Given the description of an element on the screen output the (x, y) to click on. 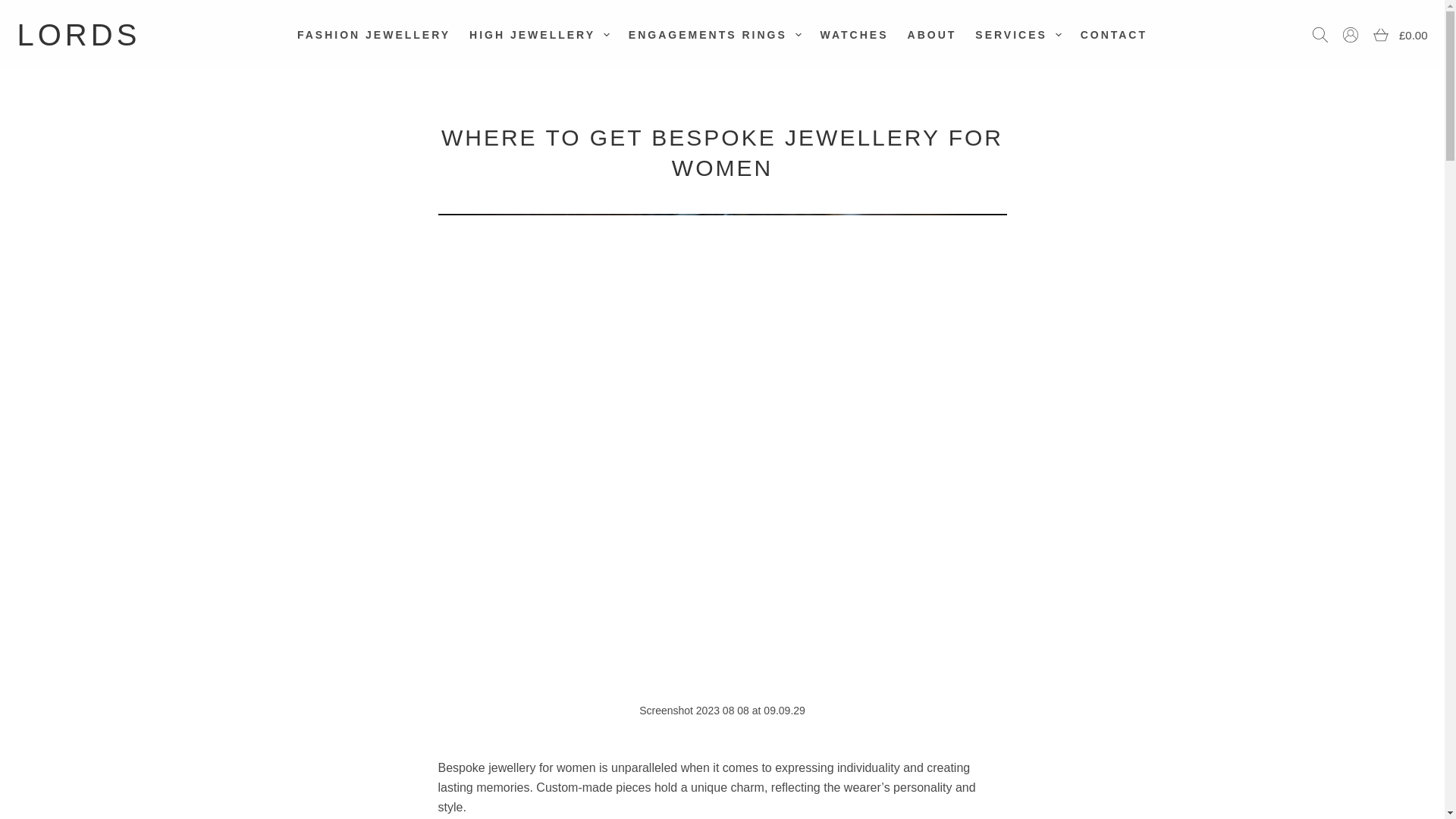
Where To Get Bespoke Jewellery For Women (722, 152)
LORDS (77, 34)
FASHION JEWELLERY (373, 34)
HIGH JEWELLERY (540, 34)
Skip to content (15, 7)
